Given the description of an element on the screen output the (x, y) to click on. 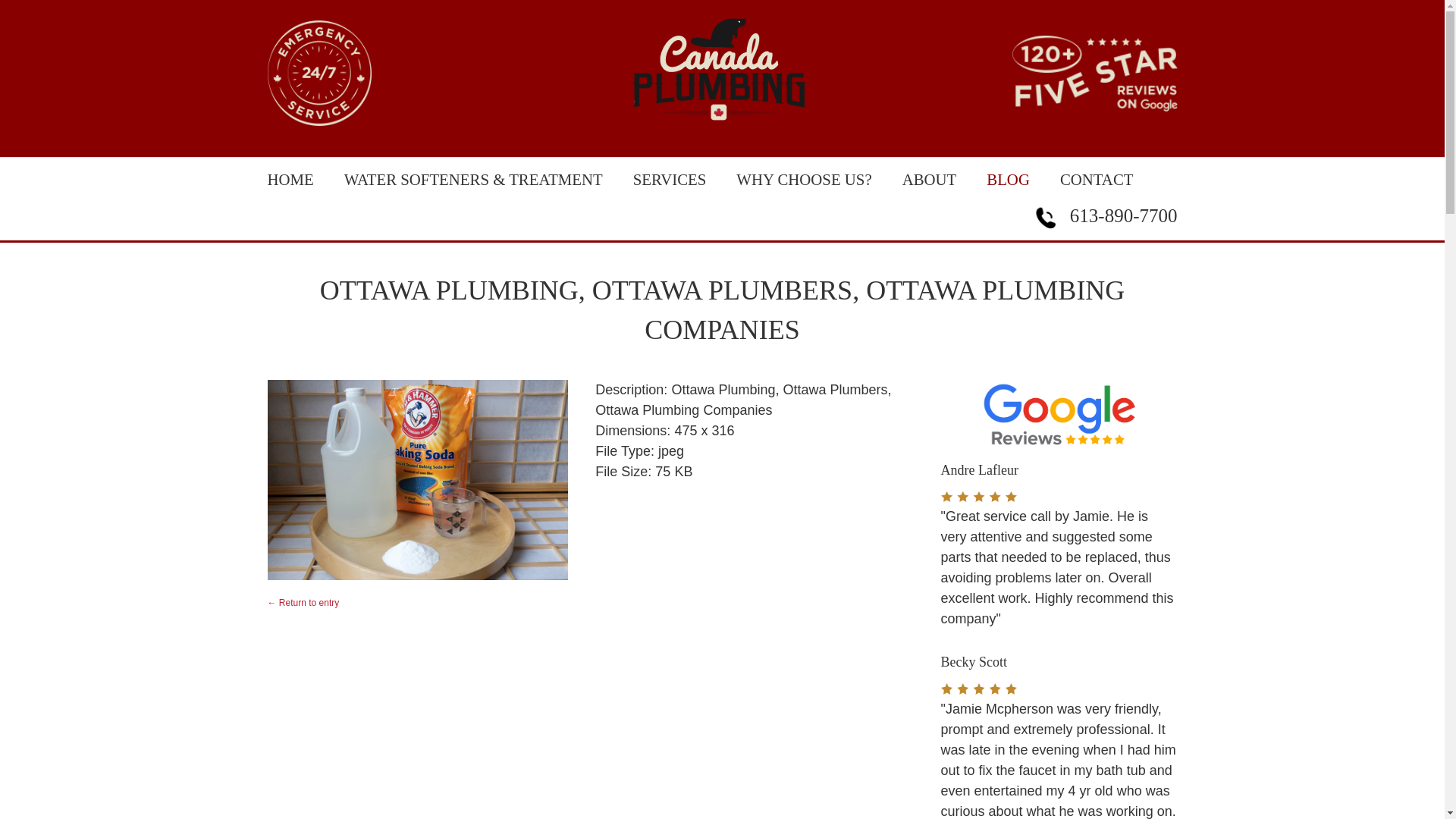
HOME (289, 179)
CONTACT (1096, 179)
ABOUT (929, 179)
BLOG (1008, 179)
613-890-7700 (1103, 216)
SERVICES (669, 179)
WHY CHOOSE US? (803, 179)
